Given the description of an element on the screen output the (x, y) to click on. 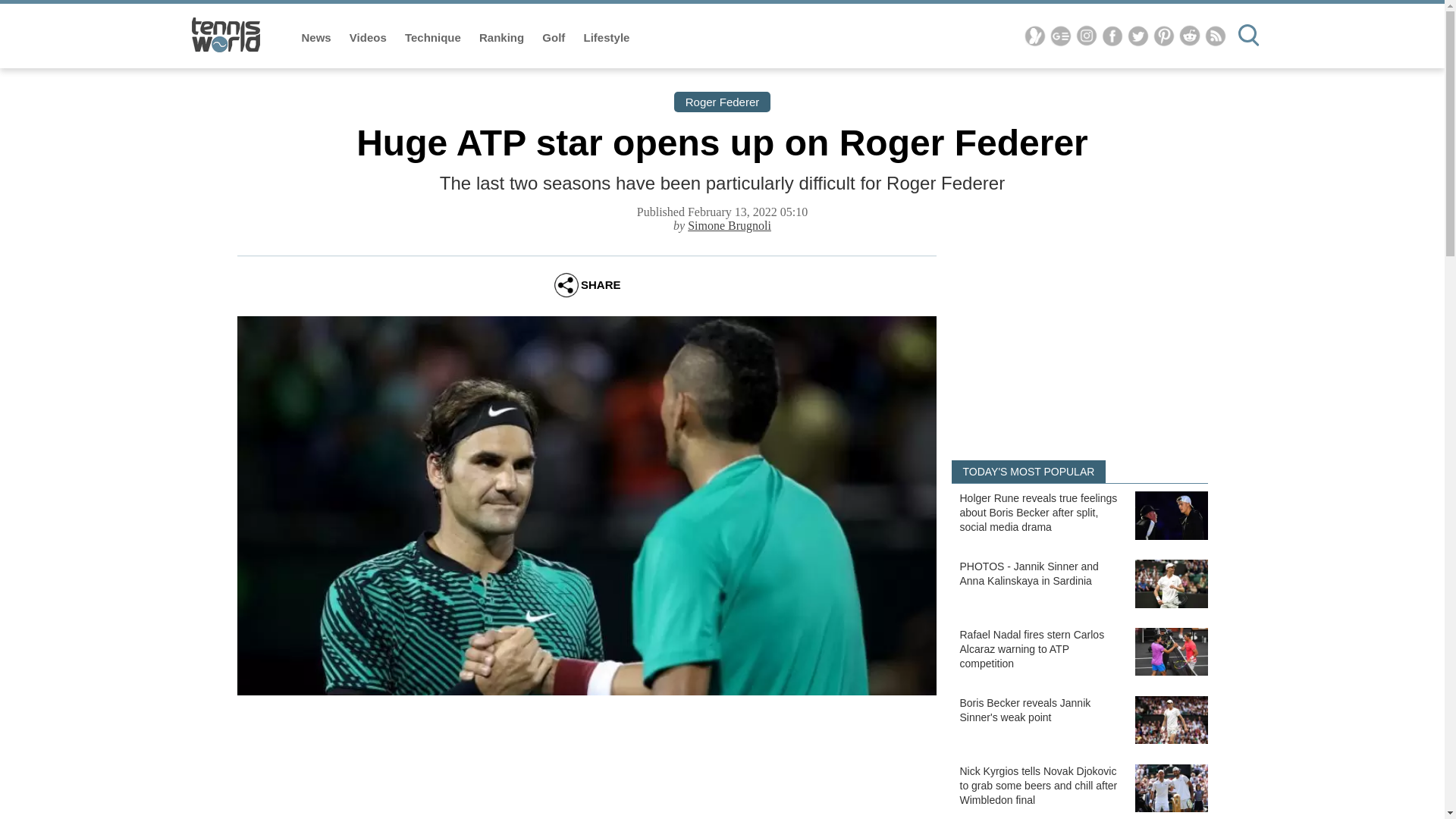
Ranking (503, 37)
News (317, 37)
Technique (434, 37)
Videos (369, 37)
Golf (554, 37)
Lifestyle (606, 37)
